Given the description of an element on the screen output the (x, y) to click on. 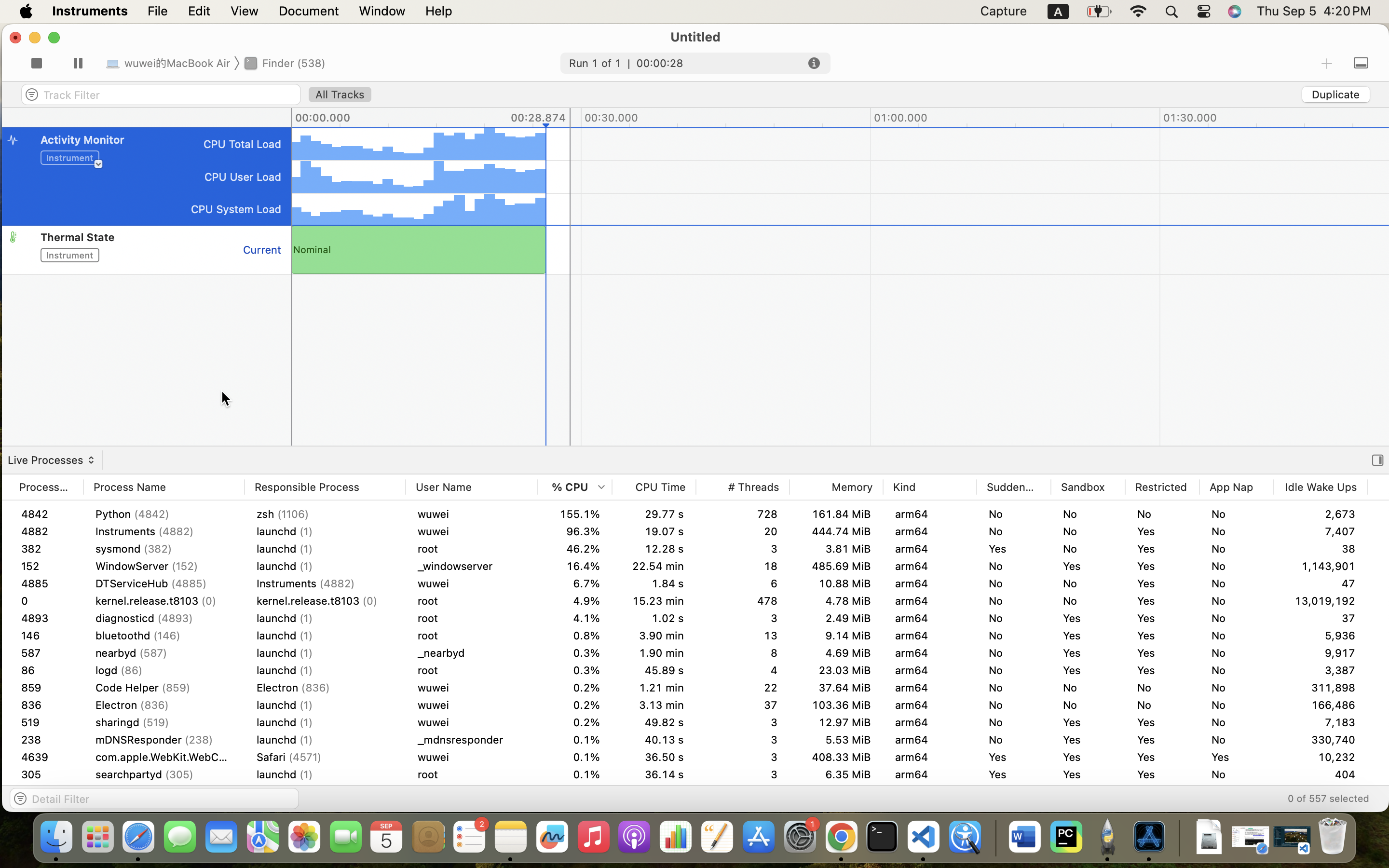
bluetoothd (146) Element type: AXStaticText (163, 635)
5,935 Element type: AXStaticText (1320, 652)
Google Chrome (3224) Element type: AXStaticText (163, 722)
92 Element type: AXStaticText (46, 600)
30 Element type: AXStaticText (1320, 617)
